Given the description of an element on the screen output the (x, y) to click on. 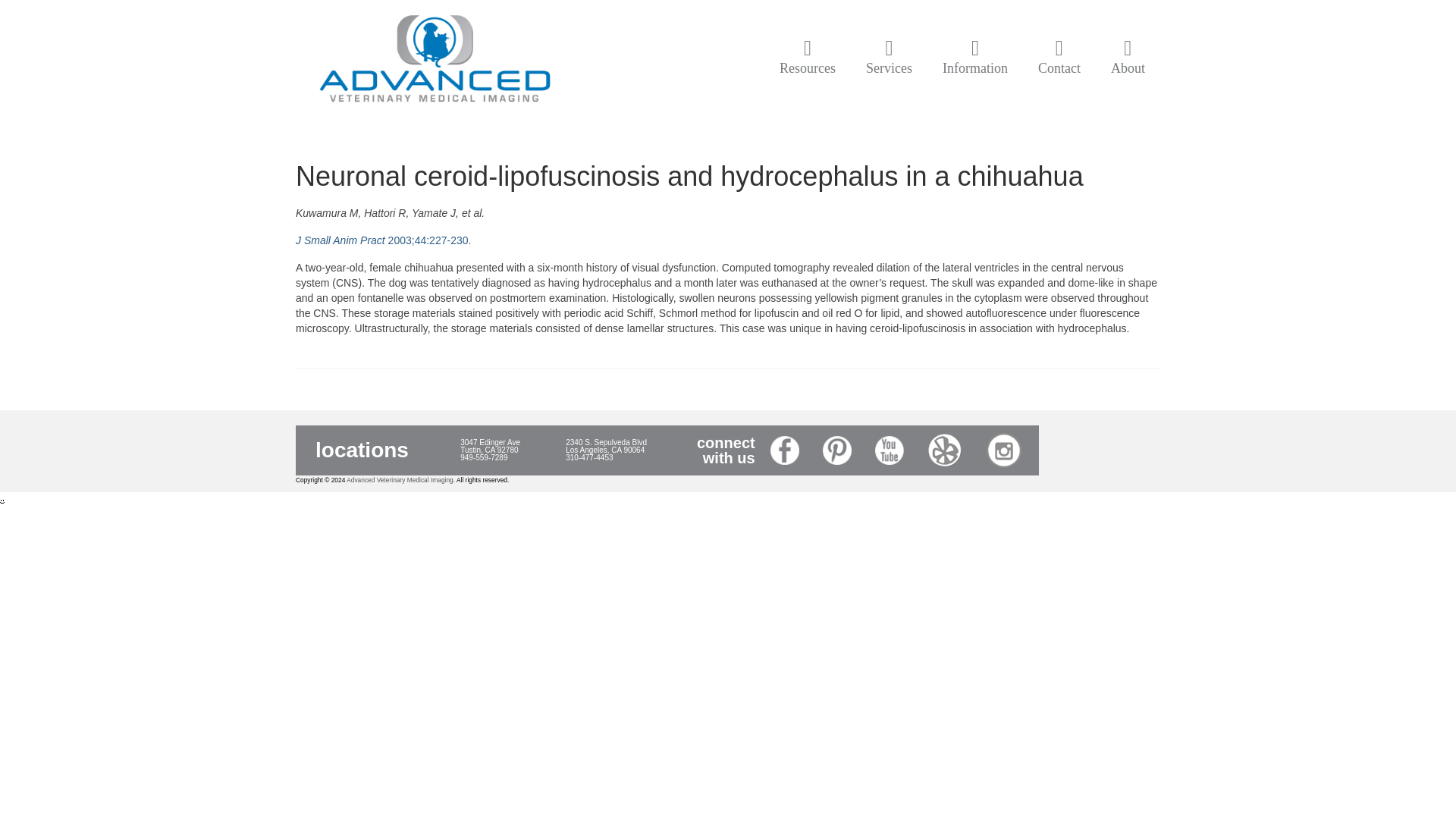
About (1128, 57)
Advanced Veterinary Medical Imaging (434, 61)
Information (975, 57)
Resources (807, 57)
Contact (1059, 57)
Services (888, 57)
About (1128, 57)
